Given the description of an element on the screen output the (x, y) to click on. 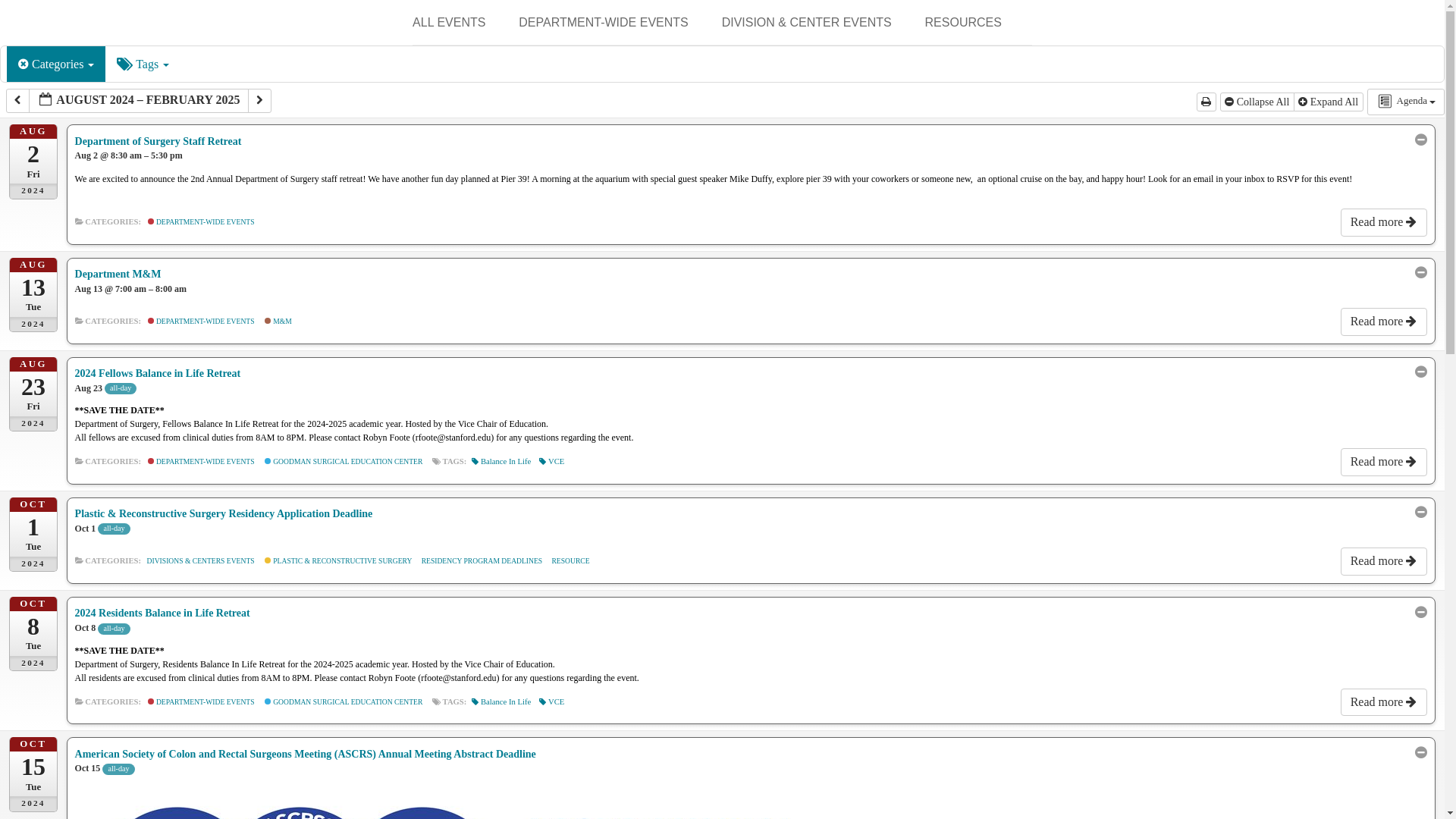
Clear category filter (24, 63)
DEPARTMENT-WIDE EVENTS (602, 22)
SURGERY GRAND ROUNDS (593, 61)
ALL EVENTS (448, 22)
RESOURCES (962, 22)
Categories (55, 63)
ABDOMINAL TRANSPLANTATION (797, 72)
